Given the description of an element on the screen output the (x, y) to click on. 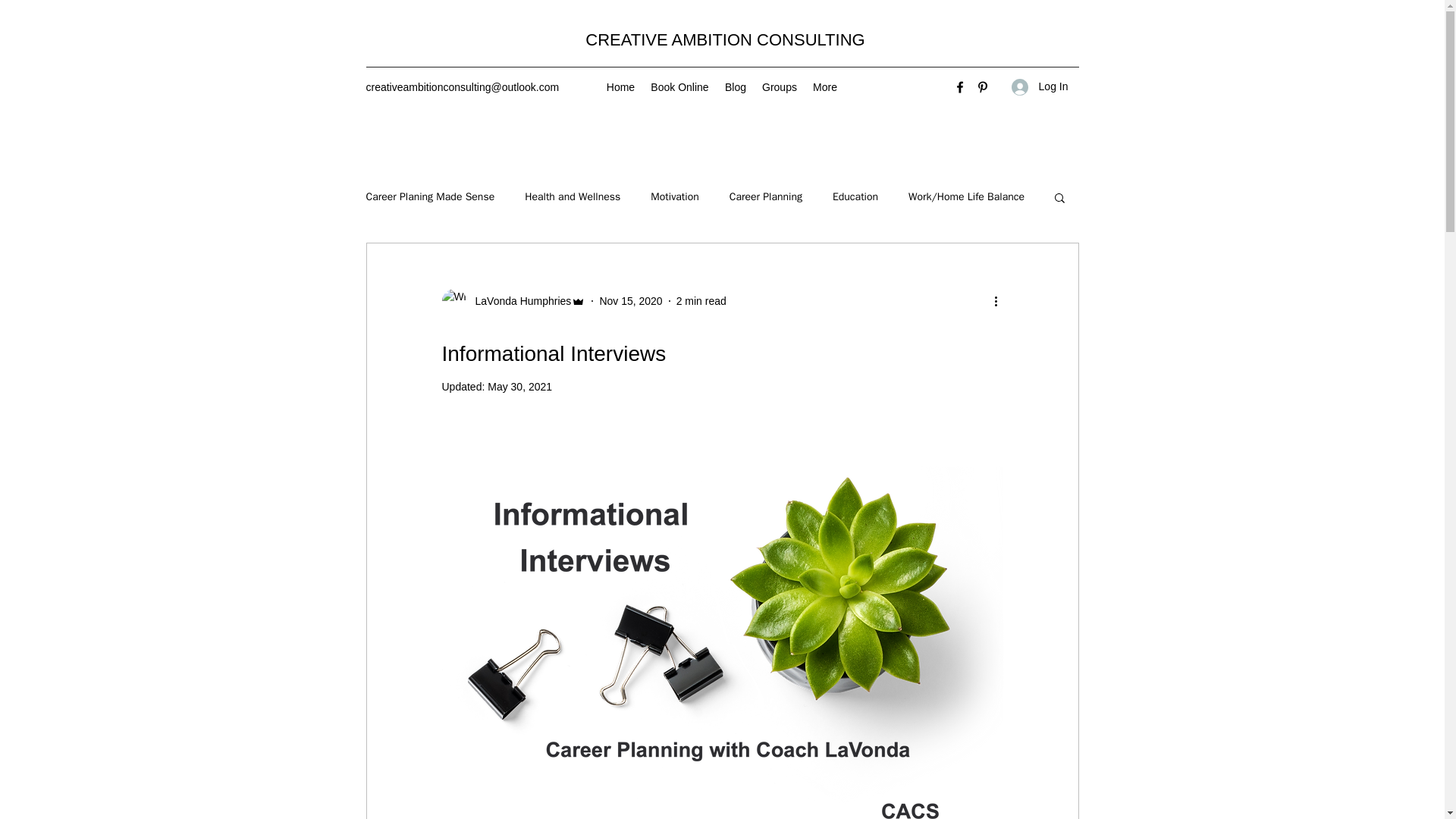
Groups (779, 87)
LaVonda Humphries (517, 301)
Home (620, 87)
Career Planning (765, 196)
LaVonda Humphries (513, 300)
May 30, 2021 (519, 386)
Education (854, 196)
Health and Wellness (572, 196)
CREATIVE AMBITION CONSULTING (724, 39)
Book Online (680, 87)
Motivation (674, 196)
Log In (1039, 86)
2 min read (701, 300)
Career Planing Made Sense (430, 196)
Nov 15, 2020 (630, 300)
